Given the description of an element on the screen output the (x, y) to click on. 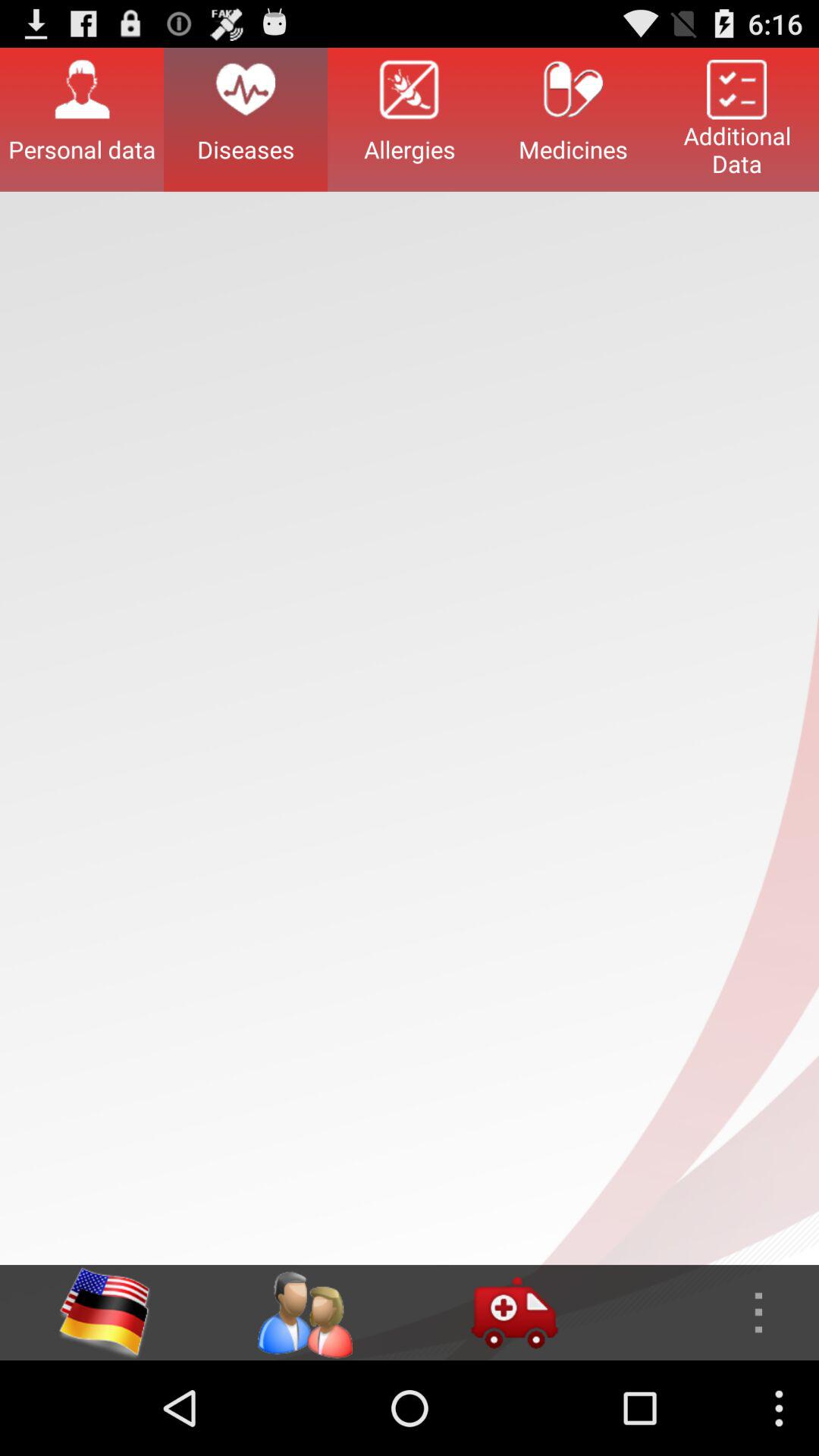
press allergies button (409, 119)
